Given the description of an element on the screen output the (x, y) to click on. 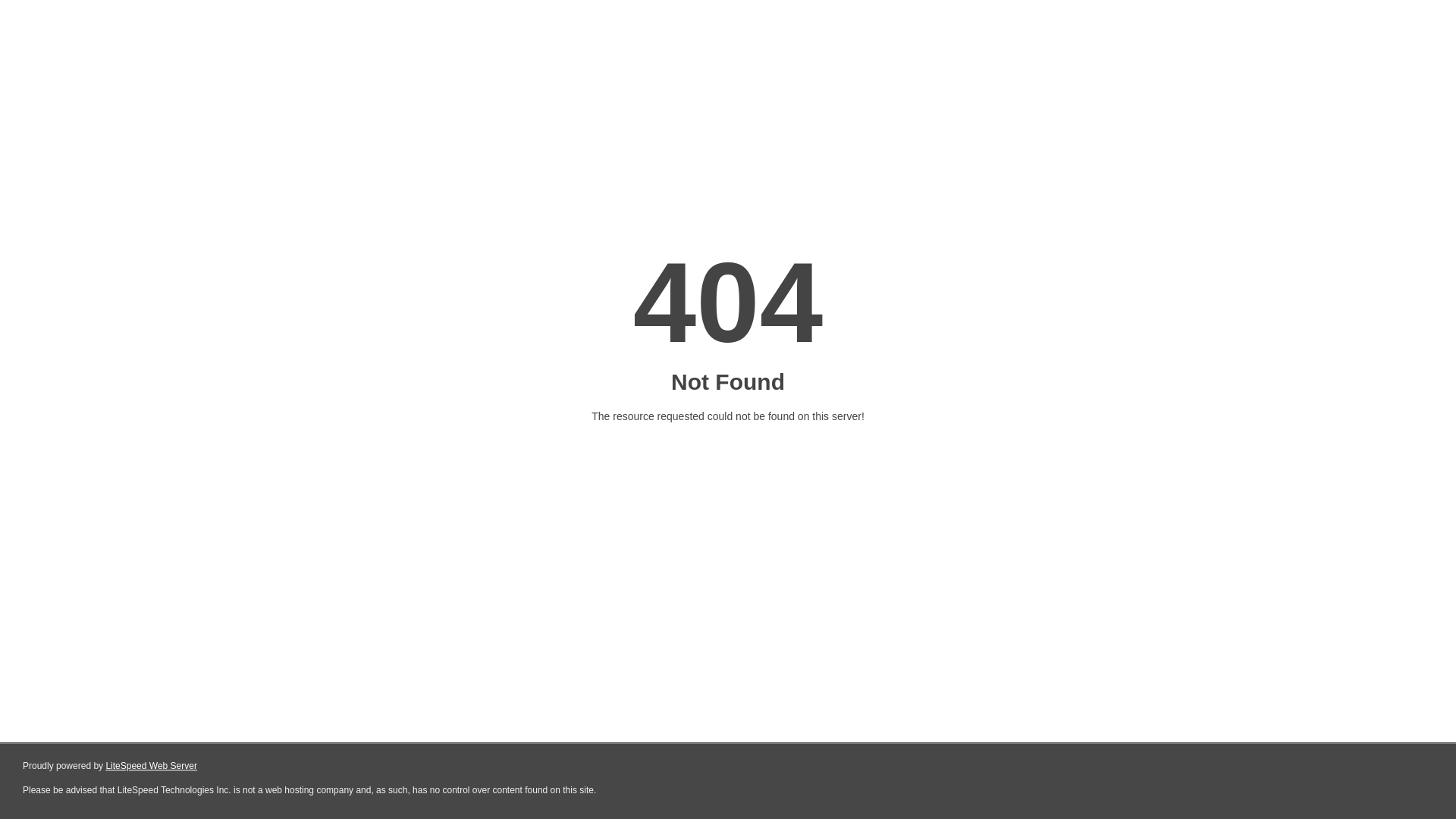
LiteSpeed Web Server Element type: text (151, 765)
